Given the description of an element on the screen output the (x, y) to click on. 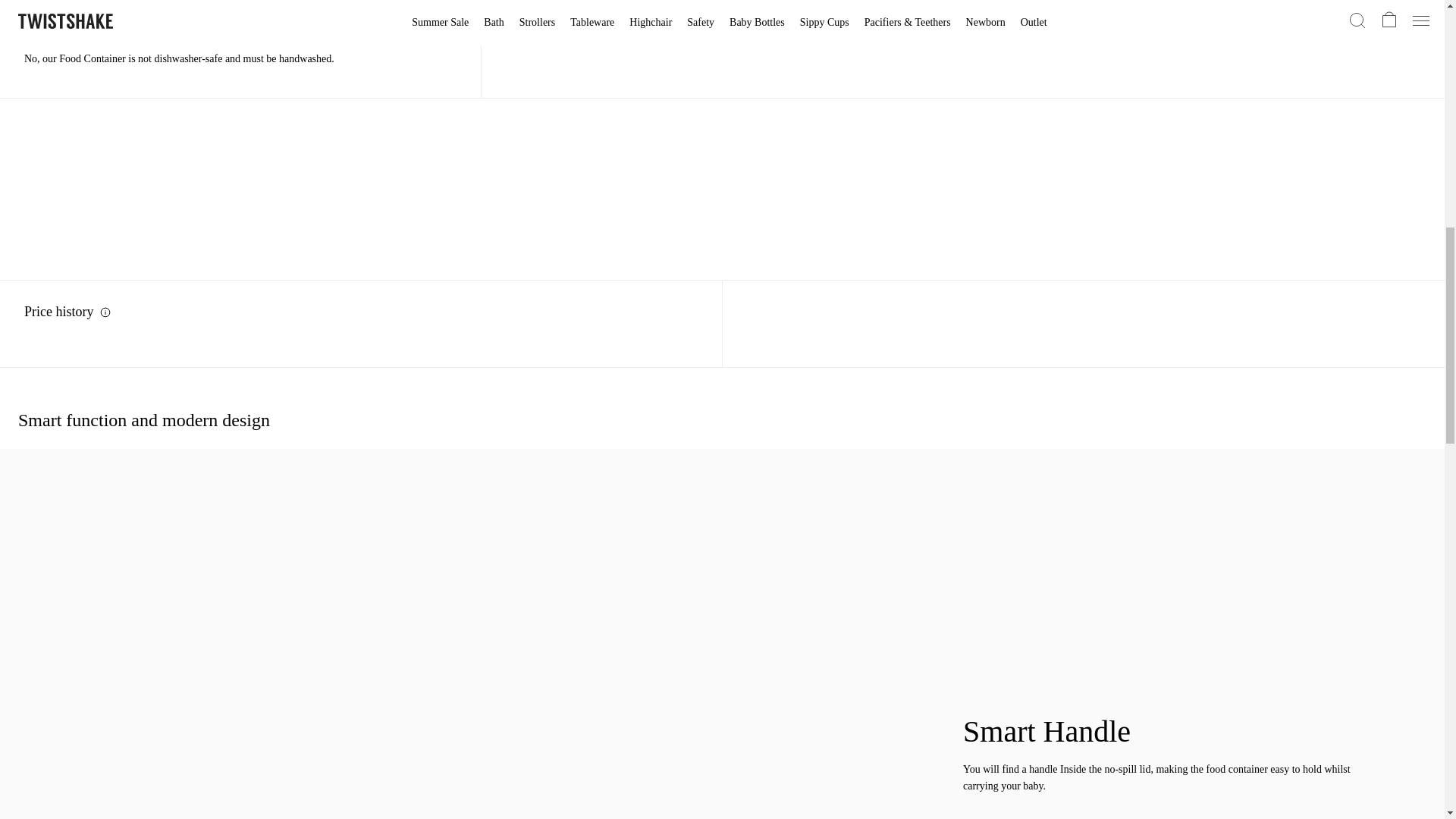
Price history (363, 311)
